Given the description of an element on the screen output the (x, y) to click on. 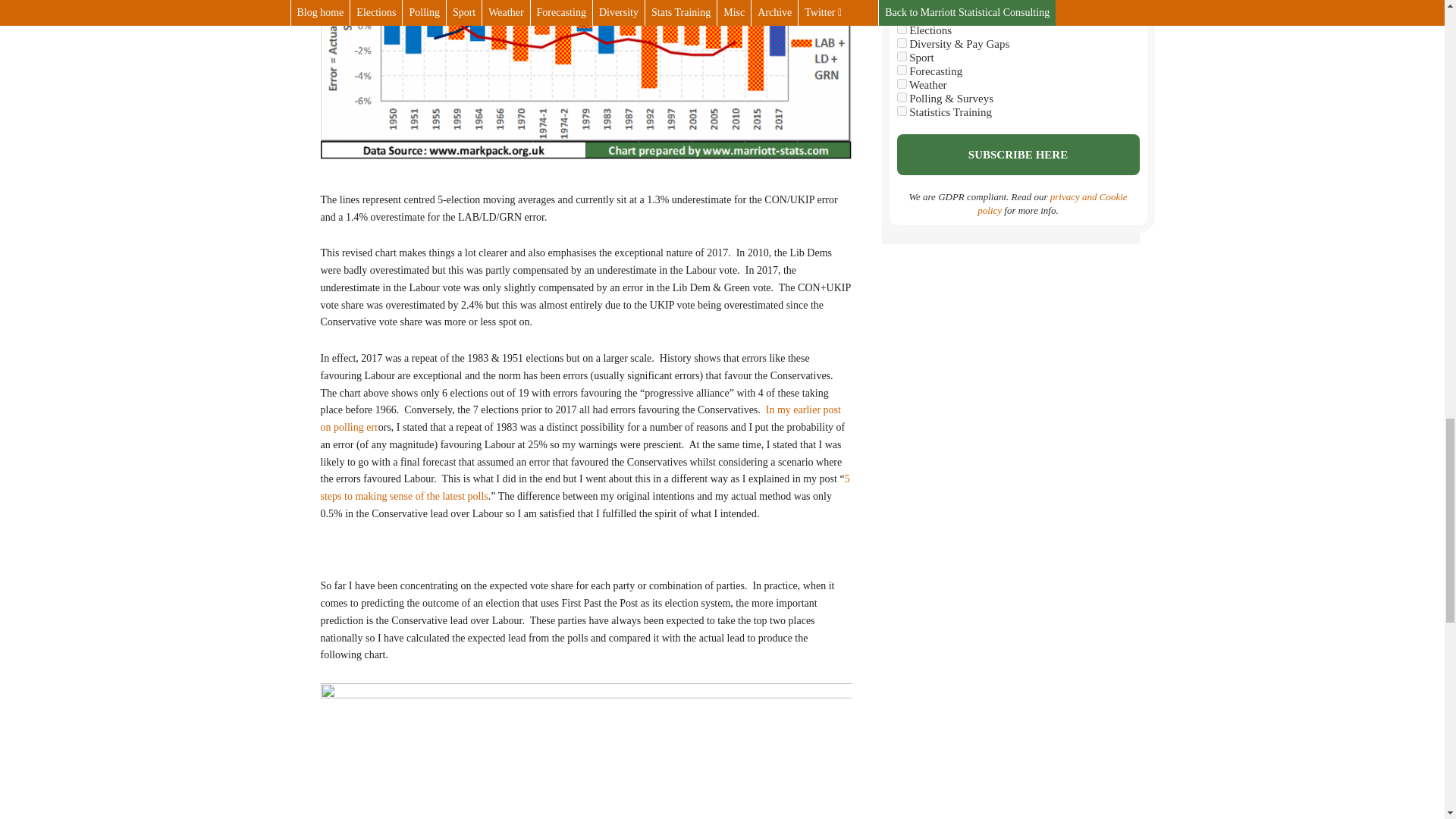
9 (900, 83)
6 (900, 70)
5 steps to making sense of the latest polls (584, 487)
15 (900, 111)
8 (900, 56)
In my earlier post on polling err (580, 418)
4 (900, 42)
7 (900, 97)
5 (900, 29)
SUBSCRIBE HERE (1017, 154)
